Given the description of an element on the screen output the (x, y) to click on. 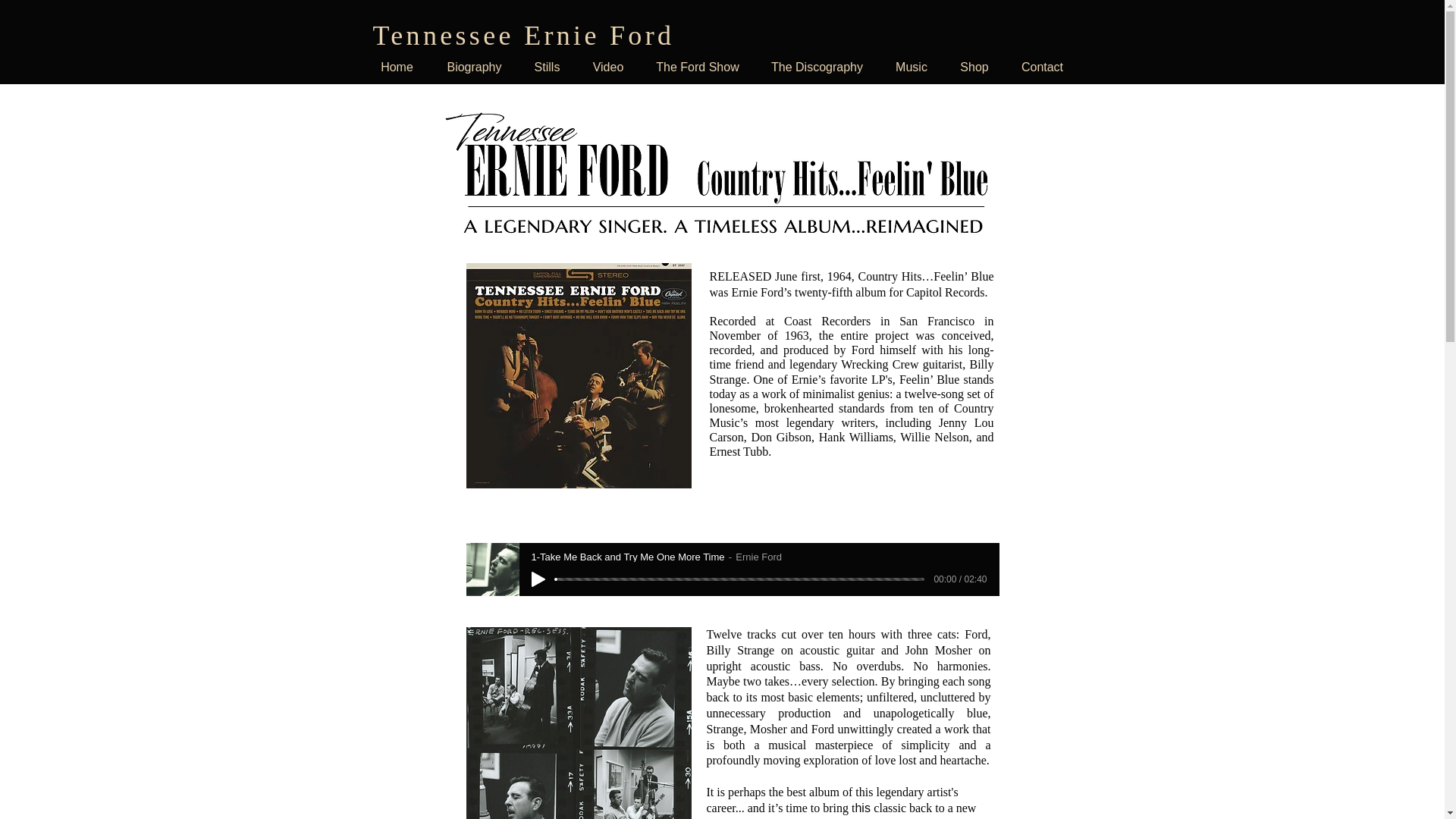
Contact (1043, 66)
Biography (474, 66)
The Discography (817, 66)
The Ford Show (697, 66)
Music (911, 66)
Shop (973, 66)
0 (739, 579)
Video (608, 66)
Stills (547, 66)
Home (397, 66)
